Given the description of an element on the screen output the (x, y) to click on. 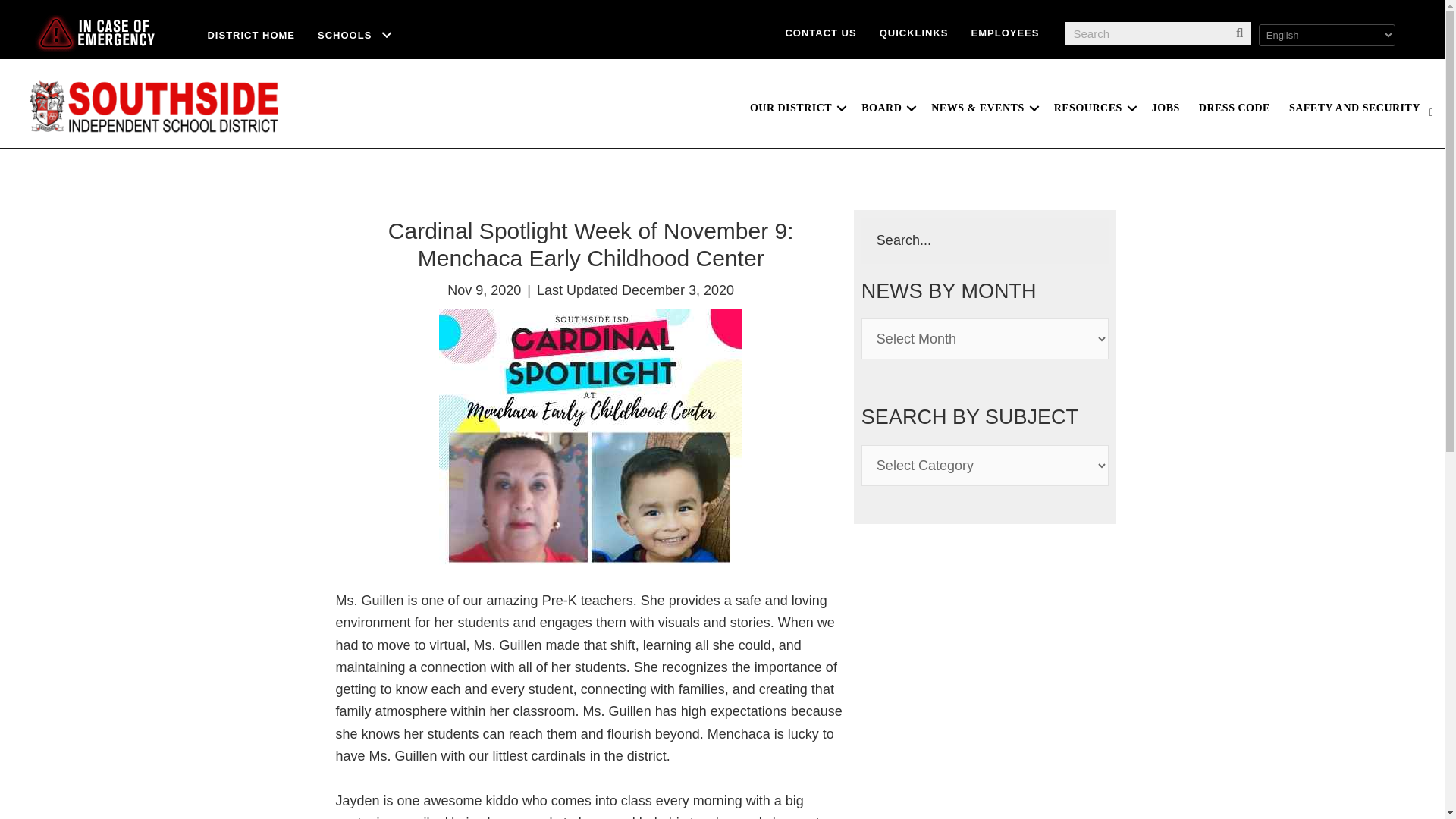
BOARD (886, 108)
SCHOOLS (354, 34)
QUICKLINKS (913, 32)
CONTACT US (820, 32)
DISTRICT HOME (250, 34)
OUR DISTRICT (796, 108)
EMPLOYEES (1005, 32)
